Given the description of an element on the screen output the (x, y) to click on. 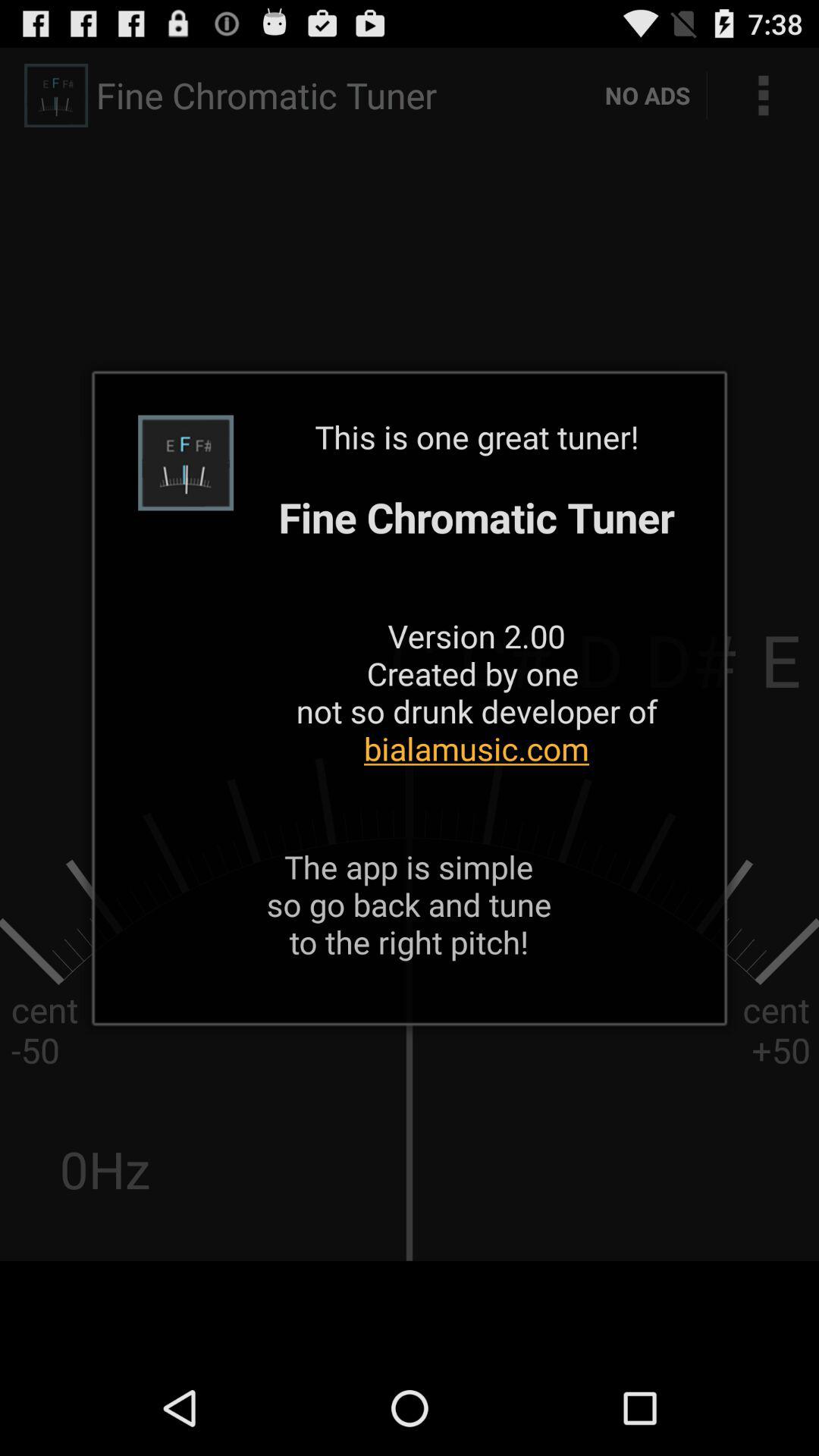
jump to this is one icon (476, 611)
